Given the description of an element on the screen output the (x, y) to click on. 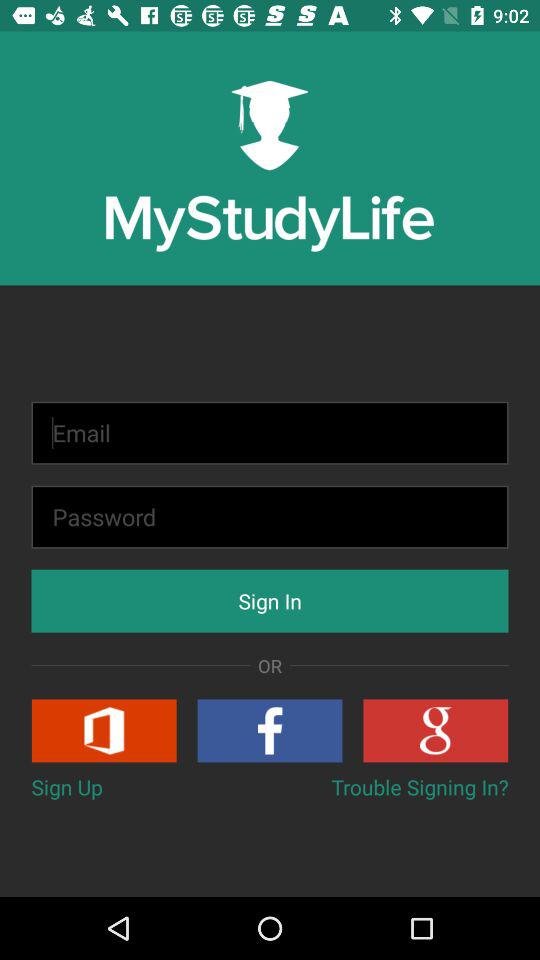
swipe to trouble signing in? item (419, 786)
